Given the description of an element on the screen output the (x, y) to click on. 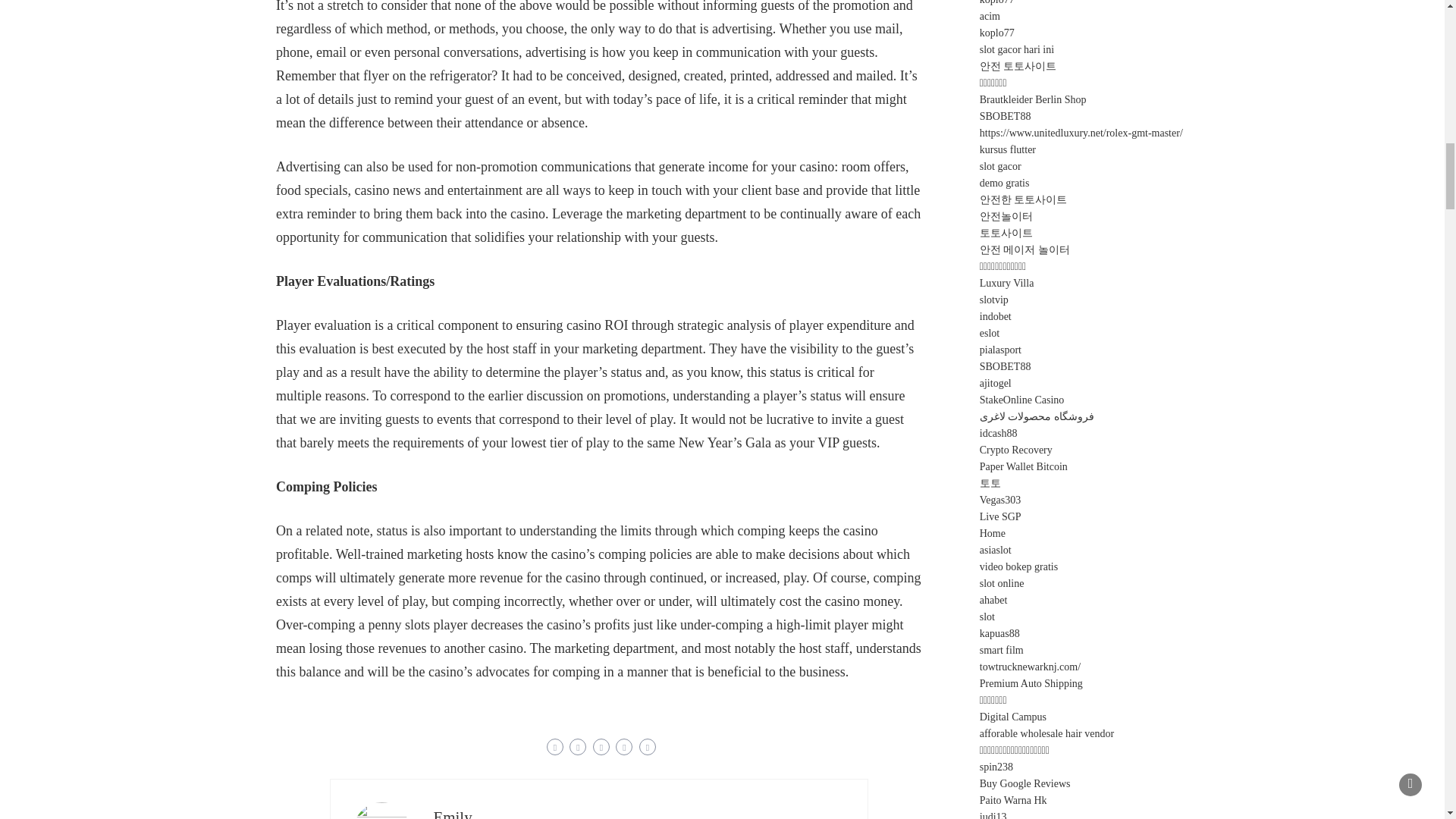
Emily (451, 813)
